Given the description of an element on the screen output the (x, y) to click on. 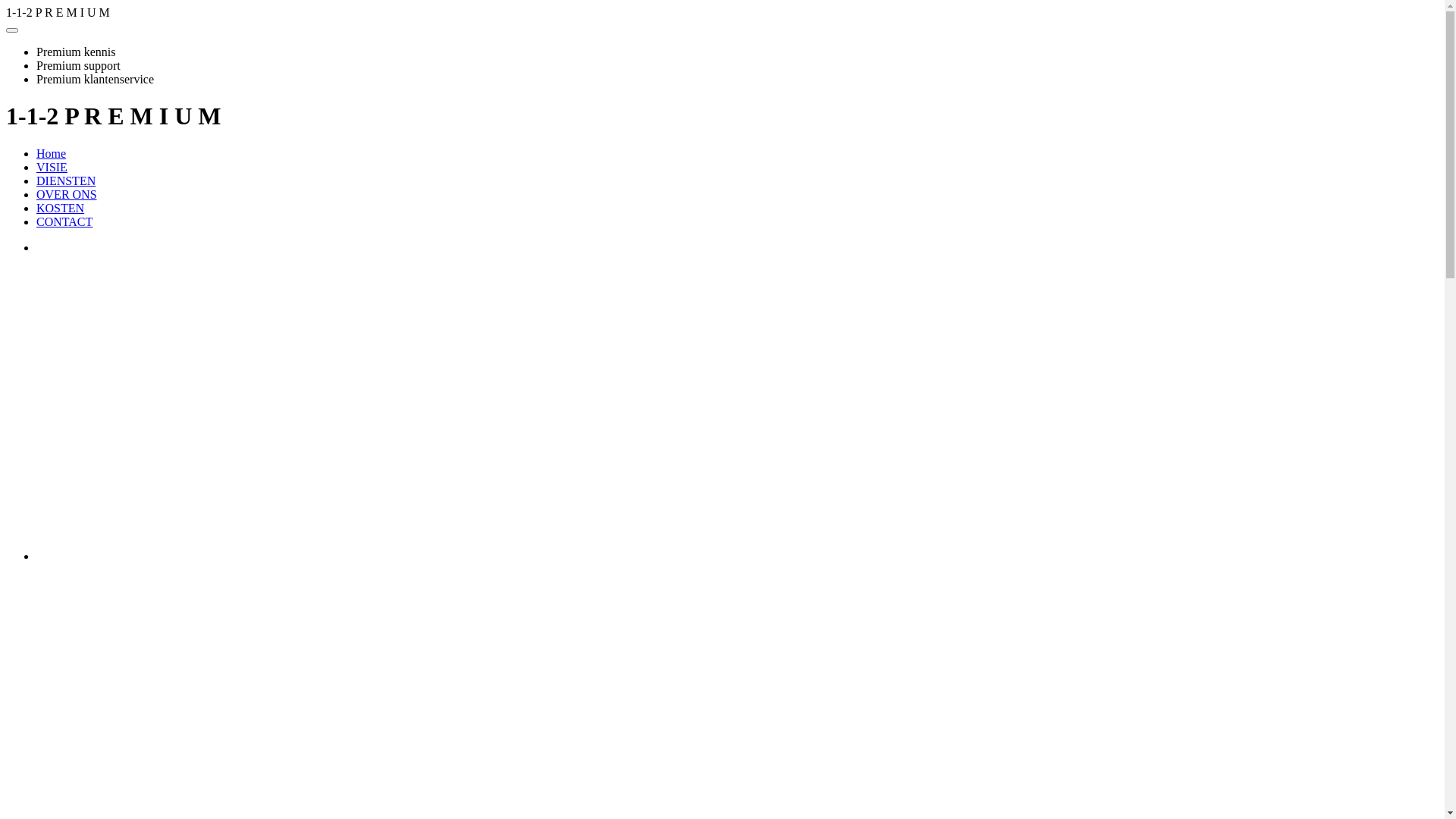
CONTACT Element type: text (64, 221)
DIENSTEN Element type: text (65, 180)
KOSTEN Element type: text (60, 207)
VISIE Element type: text (51, 166)
Home Element type: text (50, 153)
OVER ONS Element type: text (66, 194)
